Given the description of an element on the screen output the (x, y) to click on. 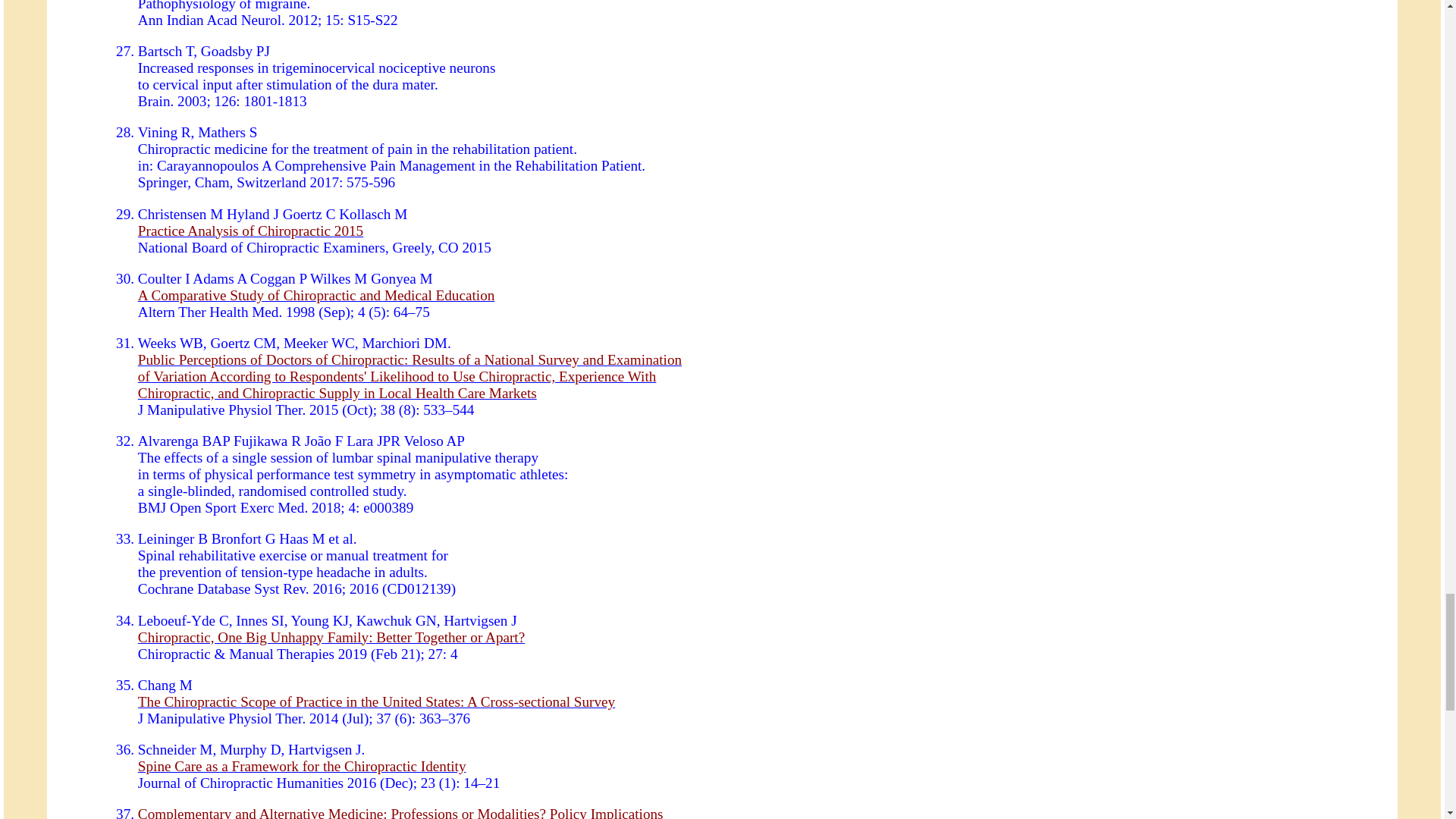
A Comparative Study of Chiropractic and Medical Education (316, 295)
Practice Analysis of Chiropractic 2015 (250, 230)
Spine Care as a Framework for the Chiropractic Identity (301, 765)
